Given the description of an element on the screen output the (x, y) to click on. 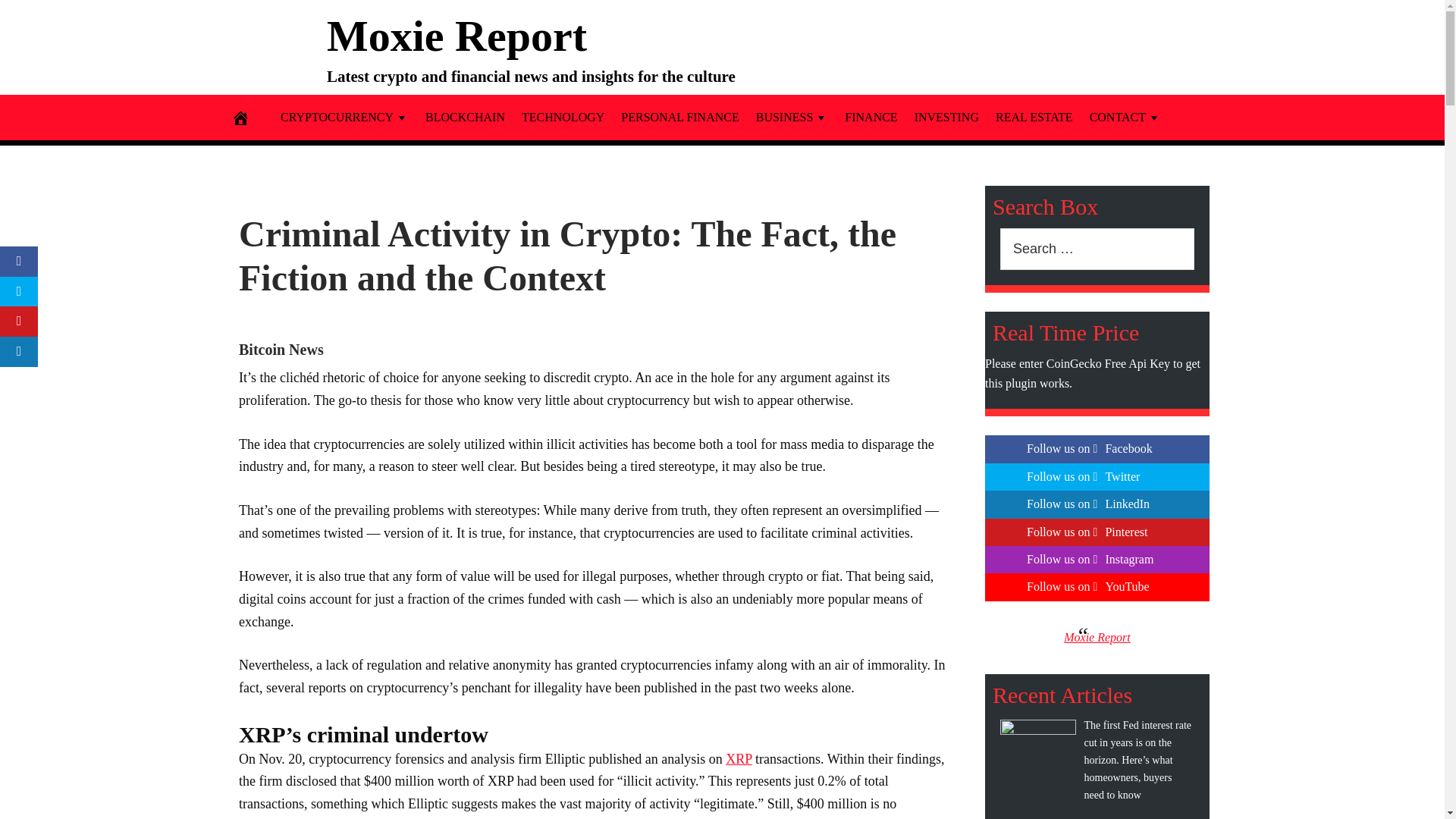
Moxie Report (456, 34)
CRYPTOCURRENCY (344, 117)
Bitcoin News (280, 349)
